Given the description of an element on the screen output the (x, y) to click on. 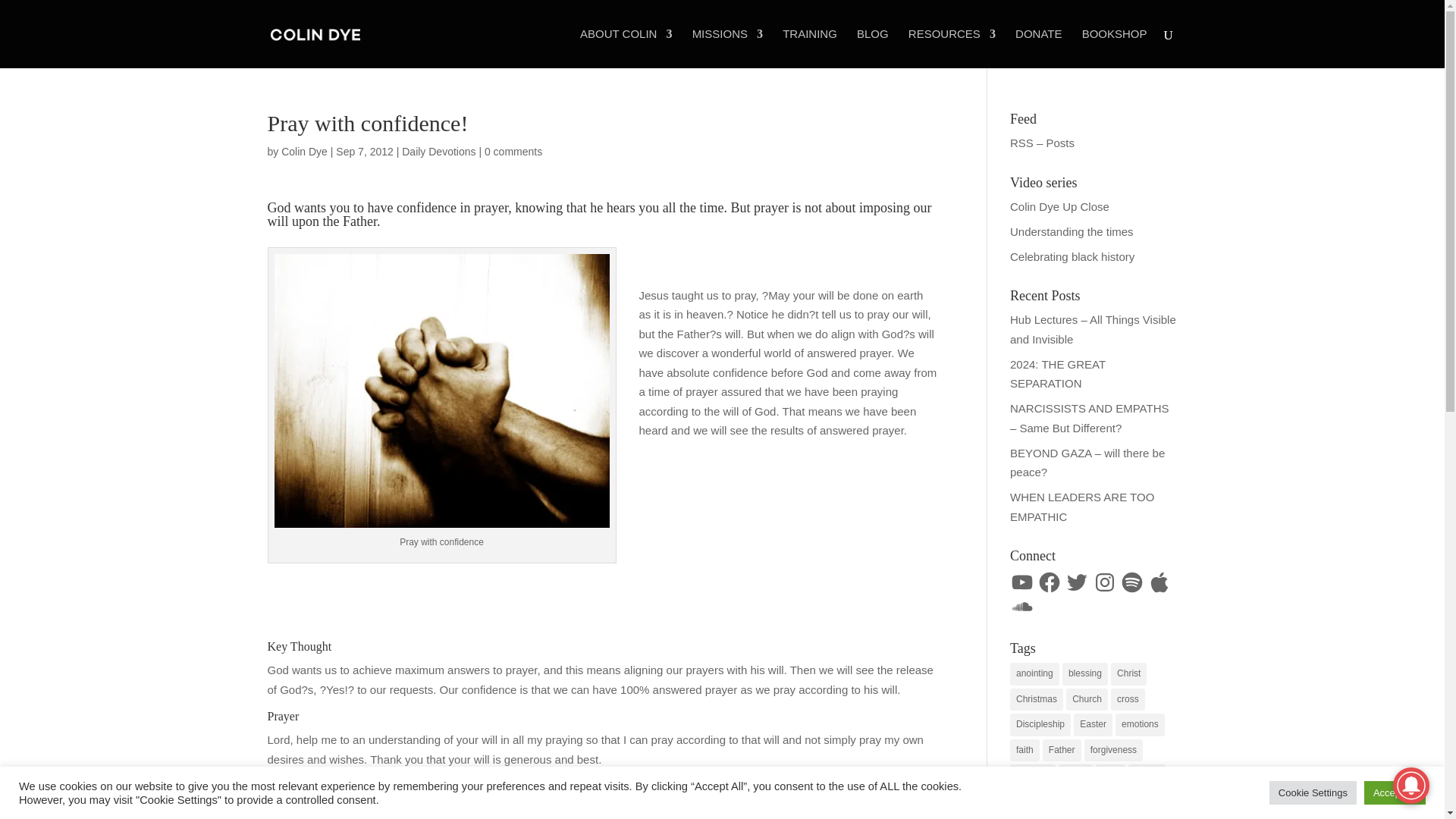
BOOKSHOP (1114, 47)
Pray with confidence (442, 390)
Colin Dye (304, 151)
ABOUT COLIN (625, 47)
Advertisement (443, 601)
MISSIONS (727, 47)
RESOURCES (951, 47)
Posts by Colin Dye (304, 151)
TRAINING (810, 47)
DONATE (1037, 47)
Subscribe to posts (1042, 142)
